Given the description of an element on the screen output the (x, y) to click on. 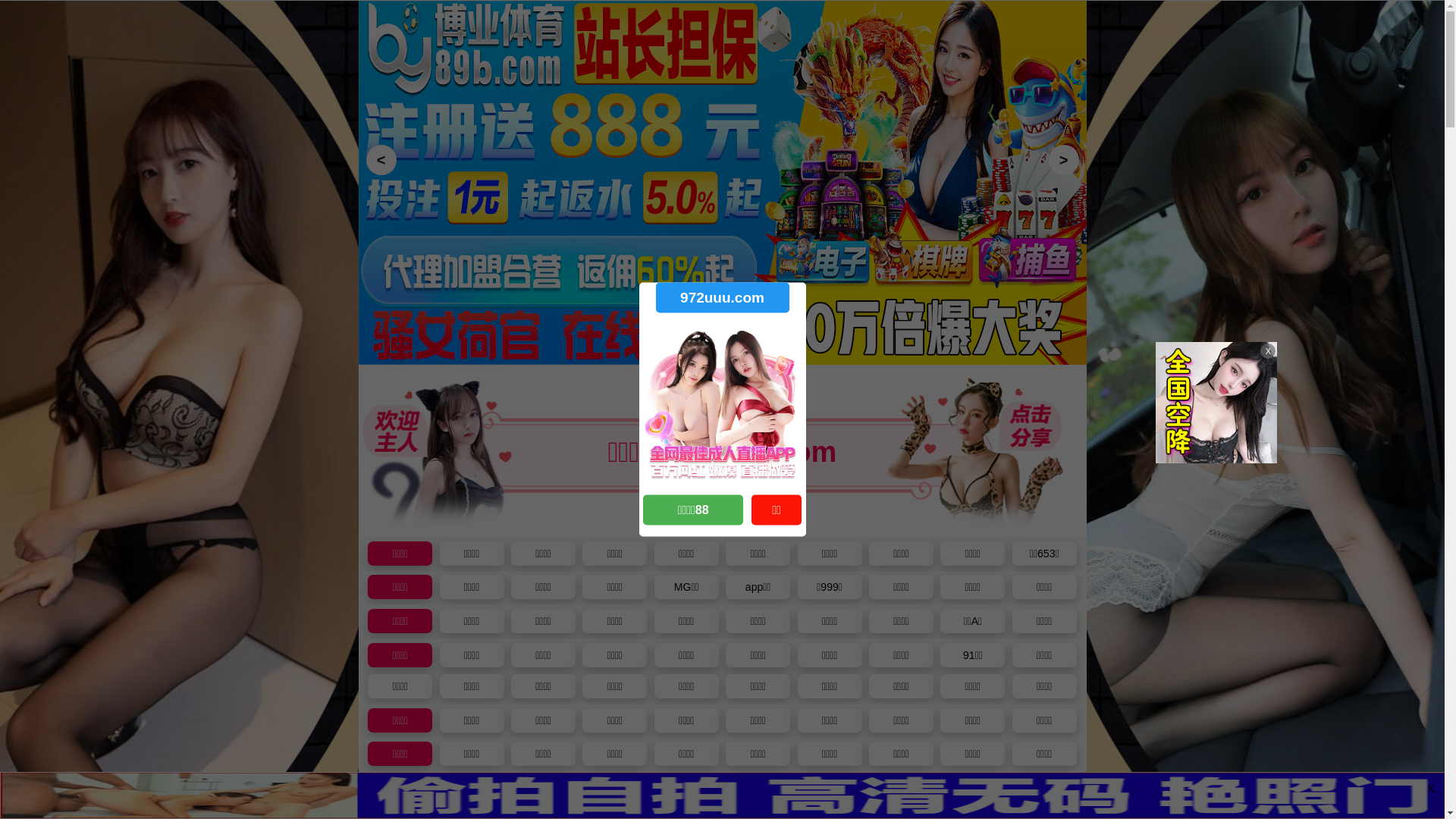
< Element type: text (380, 159)
972uuu.com Element type: text (721, 297)
X Element type: text (1430, 789)
> Element type: text (1063, 159)
